Given the description of an element on the screen output the (x, y) to click on. 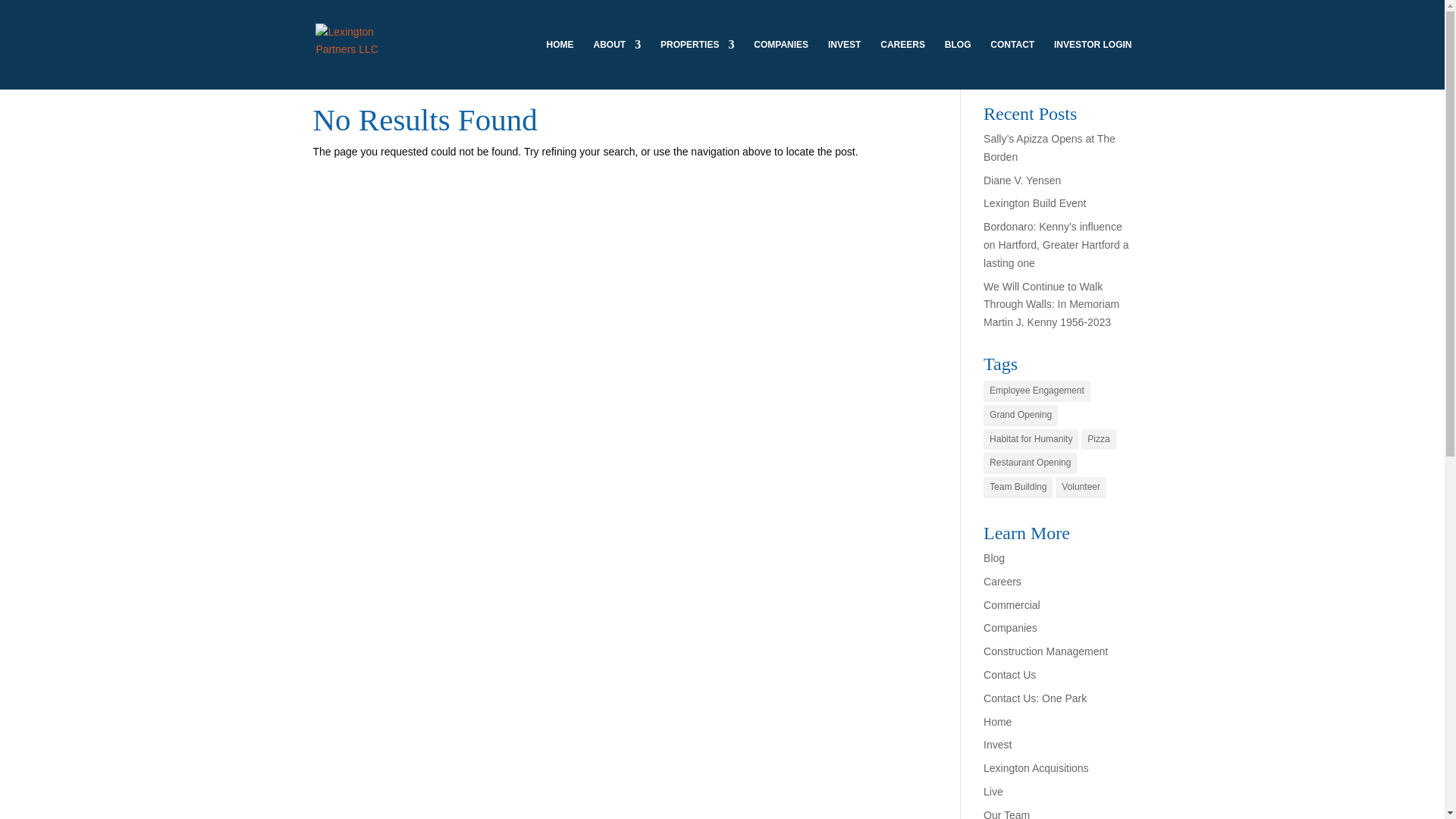
INVESTOR LOGIN (1092, 64)
Live (993, 791)
Companies (1010, 627)
Restaurant Opening (1030, 463)
COMPANIES (781, 64)
Contact Us (1009, 674)
Careers (1003, 581)
Employee Engagement (1037, 391)
CAREERS (902, 64)
PROPERTIES (697, 64)
